Given the description of an element on the screen output the (x, y) to click on. 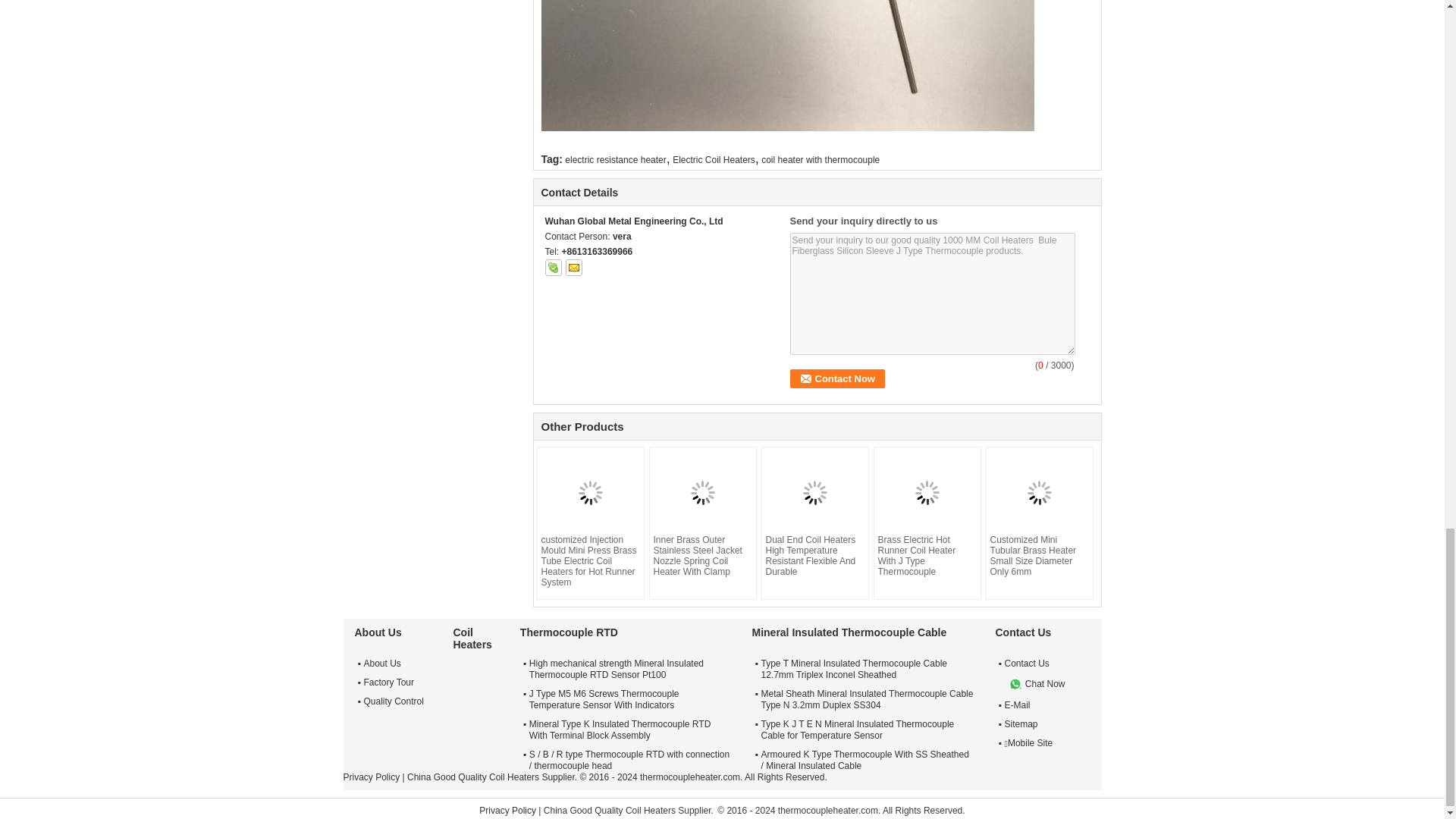
Contact Now (837, 378)
